Given the description of an element on the screen output the (x, y) to click on. 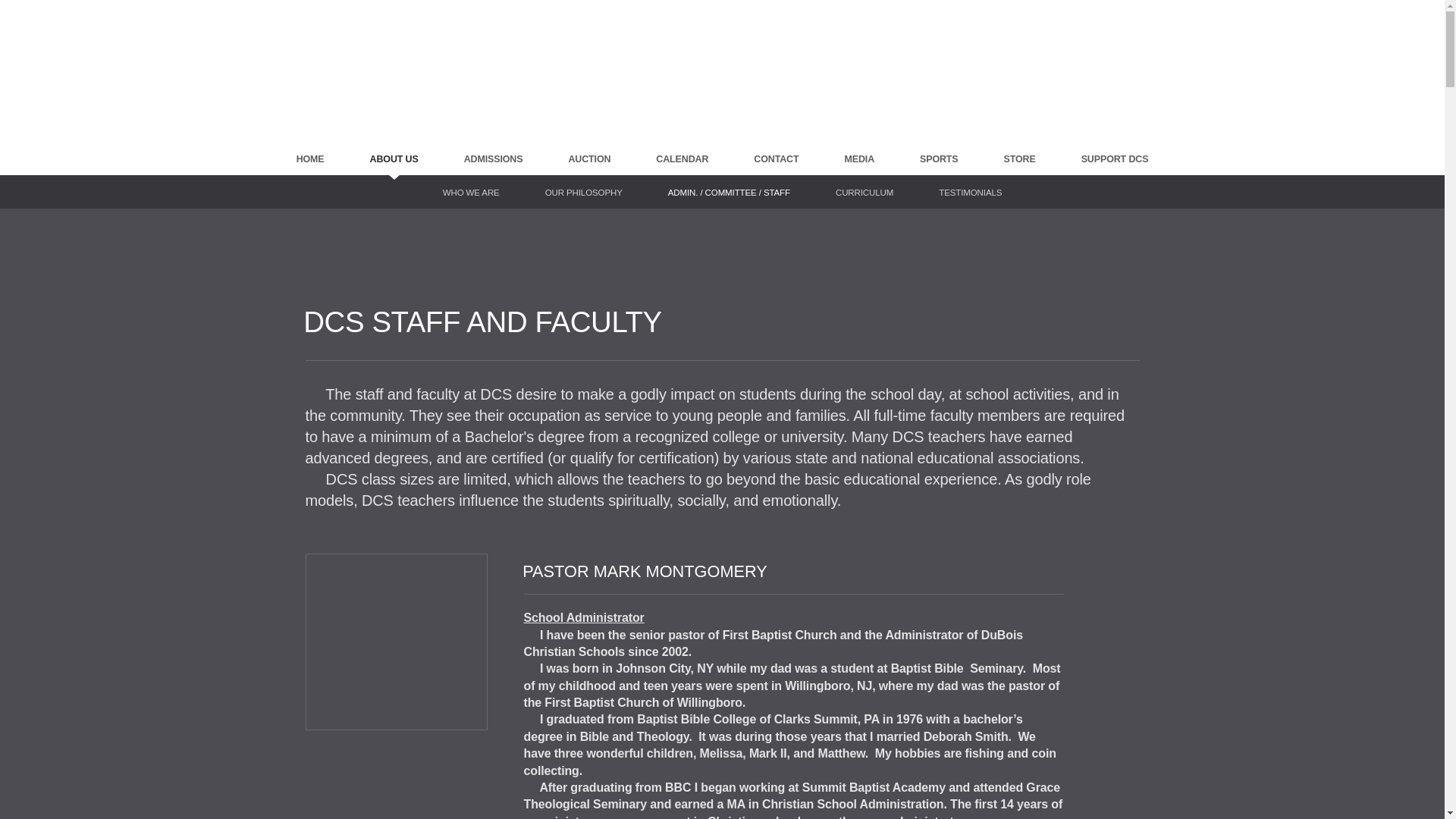
HOME (310, 158)
ABOUT US (394, 158)
